Given the description of an element on the screen output the (x, y) to click on. 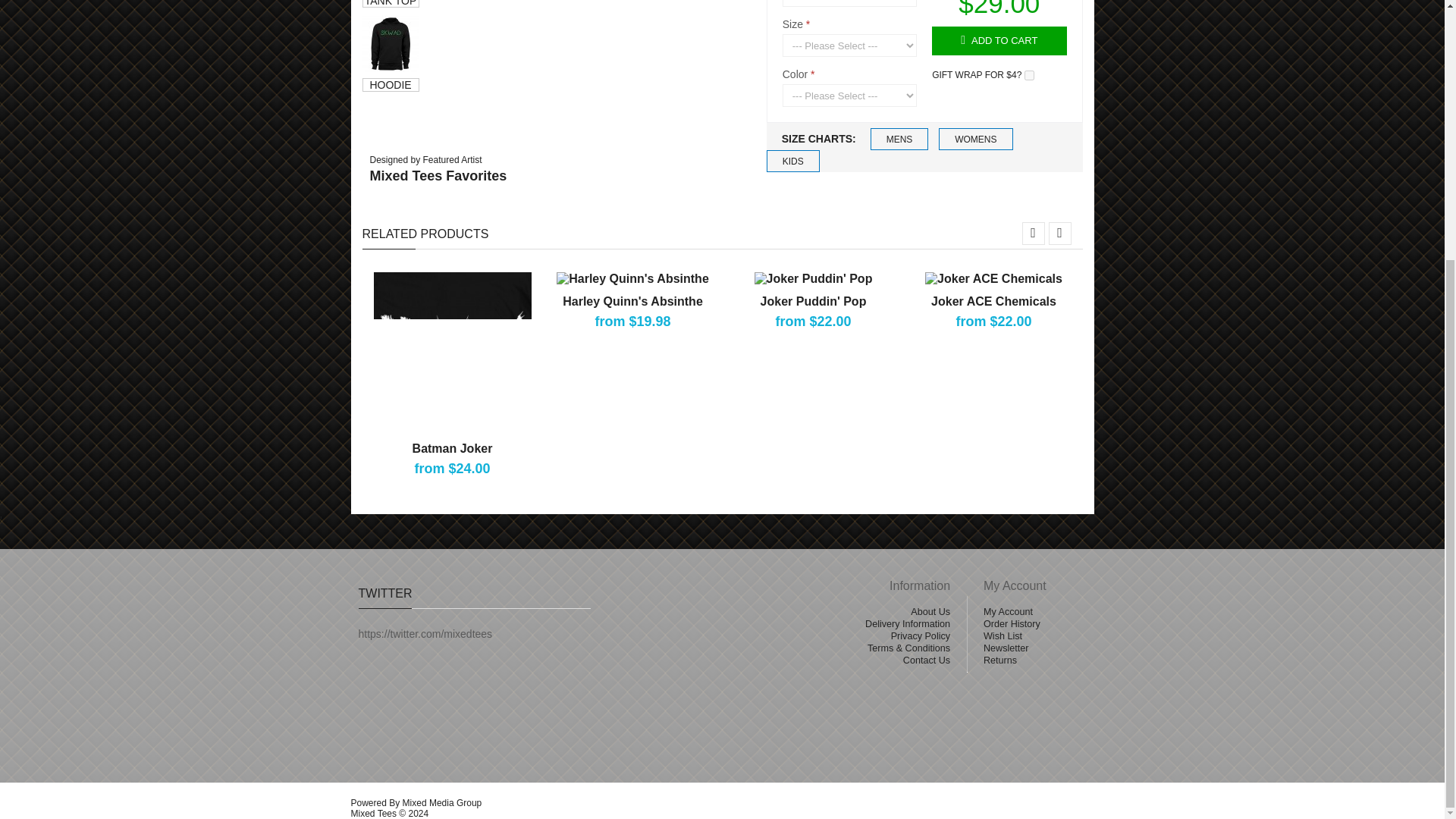
Suicide SKWAD (390, 43)
12824 (1029, 75)
